Given the description of an element on the screen output the (x, y) to click on. 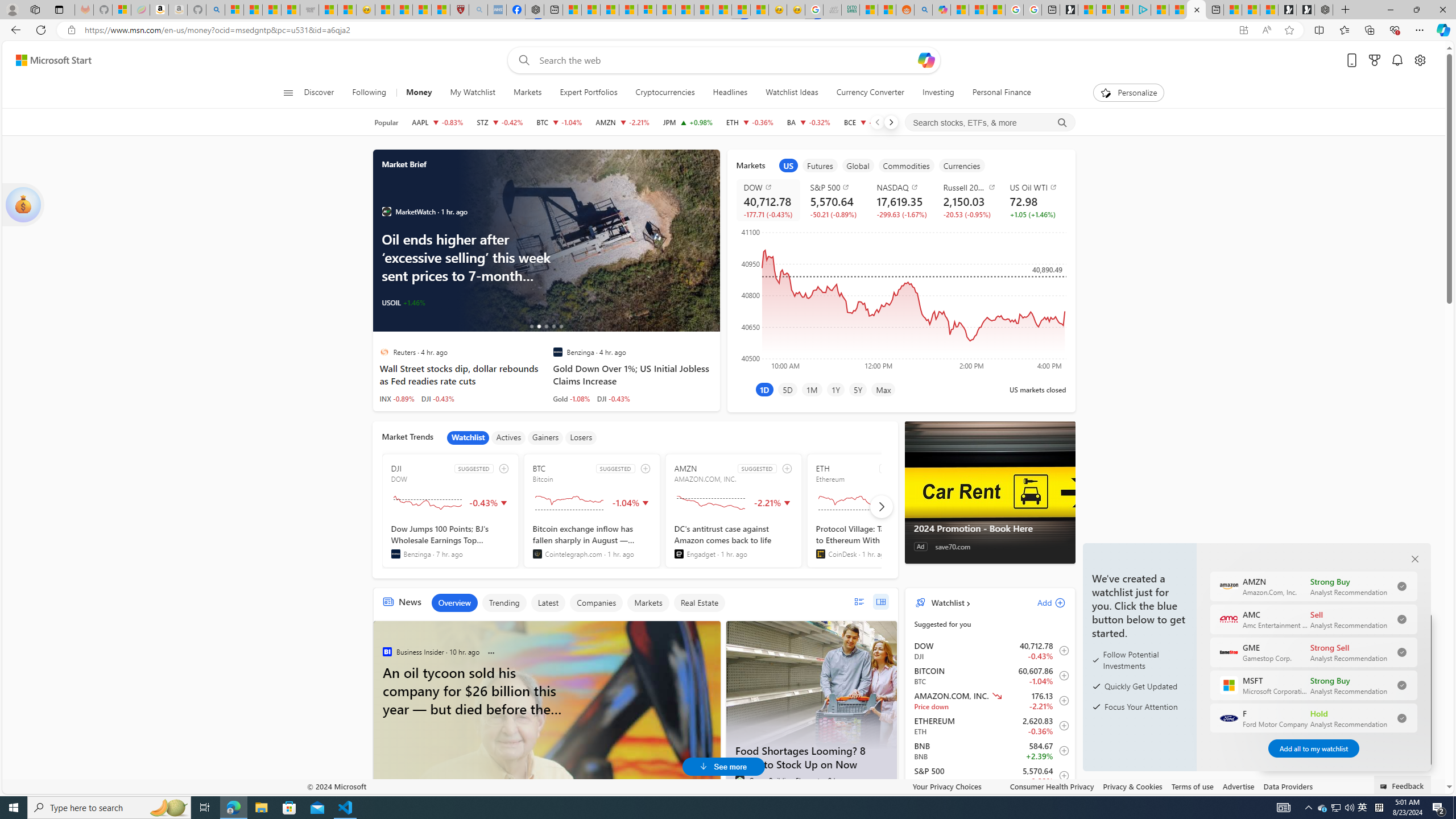
AAPL APPLE INC. decrease 224.53 -1.87 -0.83% (437, 122)
ETH SUGGESTED Ethereum (874, 510)
Losers (580, 437)
My Watchlist (472, 92)
Open navigation menu (287, 92)
ETH Ethereum decrease 2,620.83 -9.43 -0.36% item3 (989, 725)
DJI -0.43% (613, 397)
Microsoft account | Privacy (1123, 9)
Personal Finance (1001, 92)
